Given the description of an element on the screen output the (x, y) to click on. 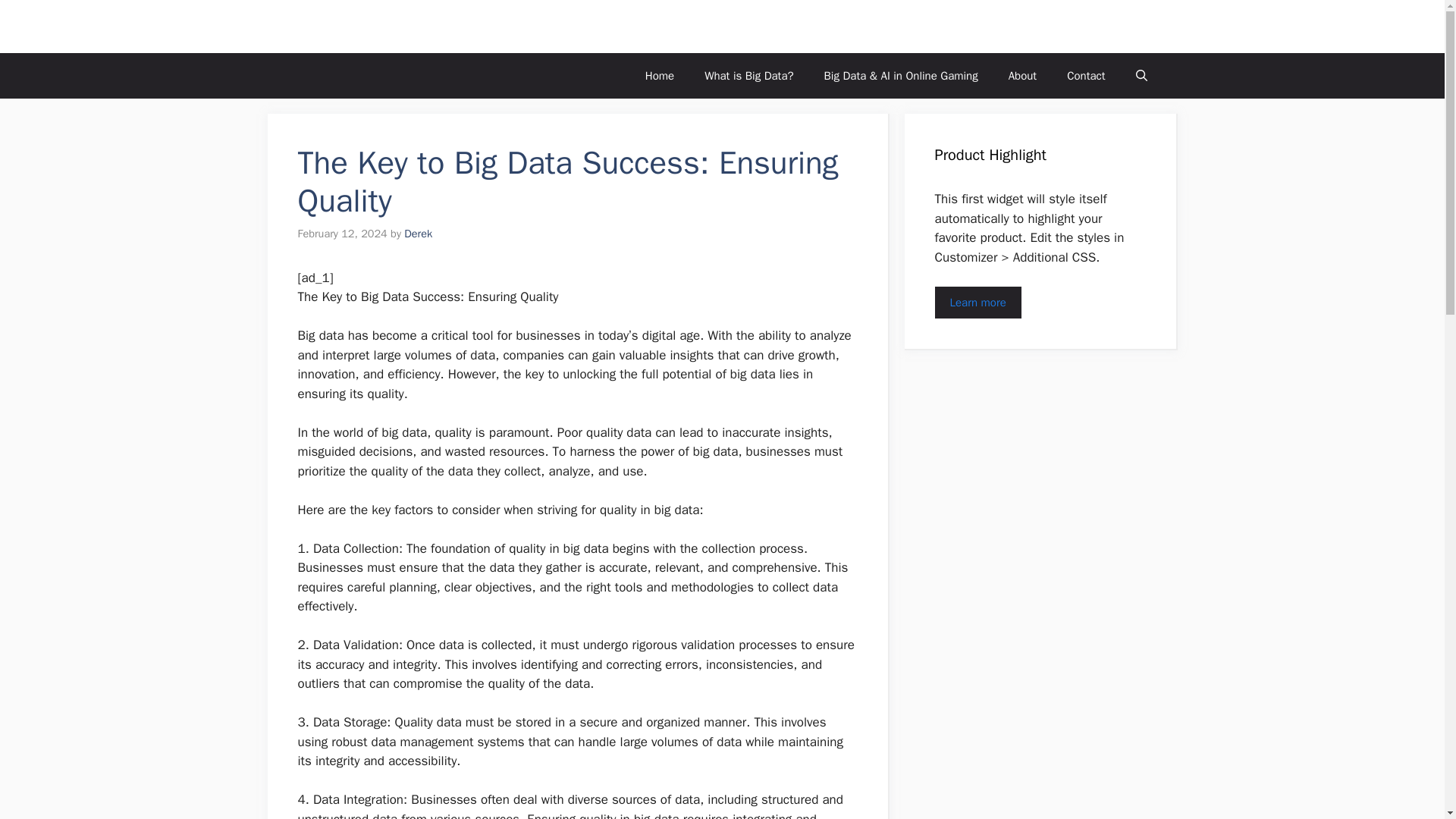
Contact (1085, 75)
About (1021, 75)
View all posts by Derek (418, 233)
What is Big Data? (748, 75)
Home (659, 75)
Byte-project.eu (358, 25)
Derek (418, 233)
Learn more (977, 302)
